Given the description of an element on the screen output the (x, y) to click on. 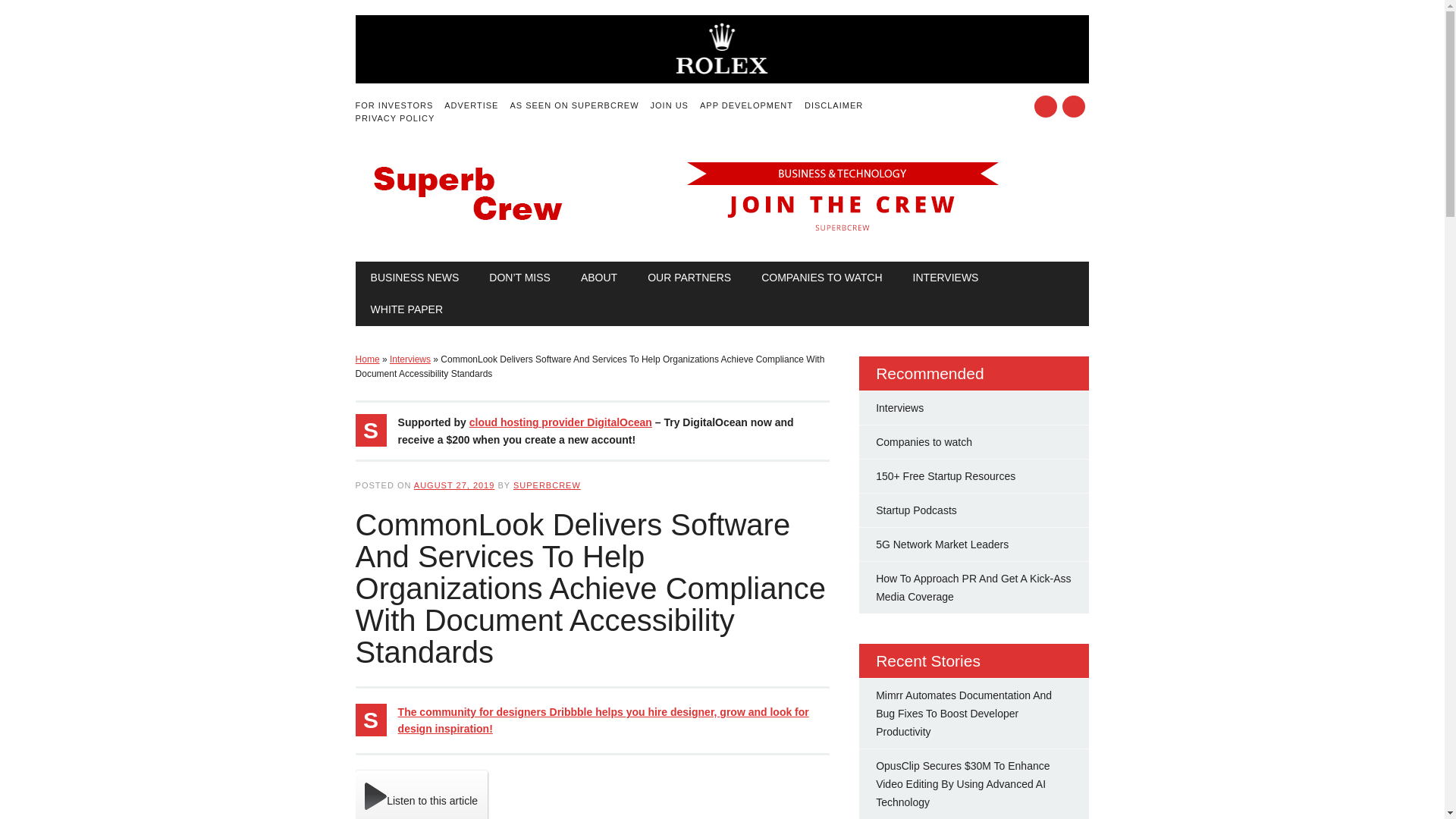
OUR PARTNERS (688, 277)
ABOUT (598, 277)
WHITE PAPER (406, 309)
AUGUST 27, 2019 (454, 484)
4:01 am (454, 484)
Business News (414, 277)
View all posts by SuperbCrew (546, 484)
ADVERTISE (476, 105)
Interviews (410, 358)
AS SEEN ON SUPERBCREW (579, 105)
